Given the description of an element on the screen output the (x, y) to click on. 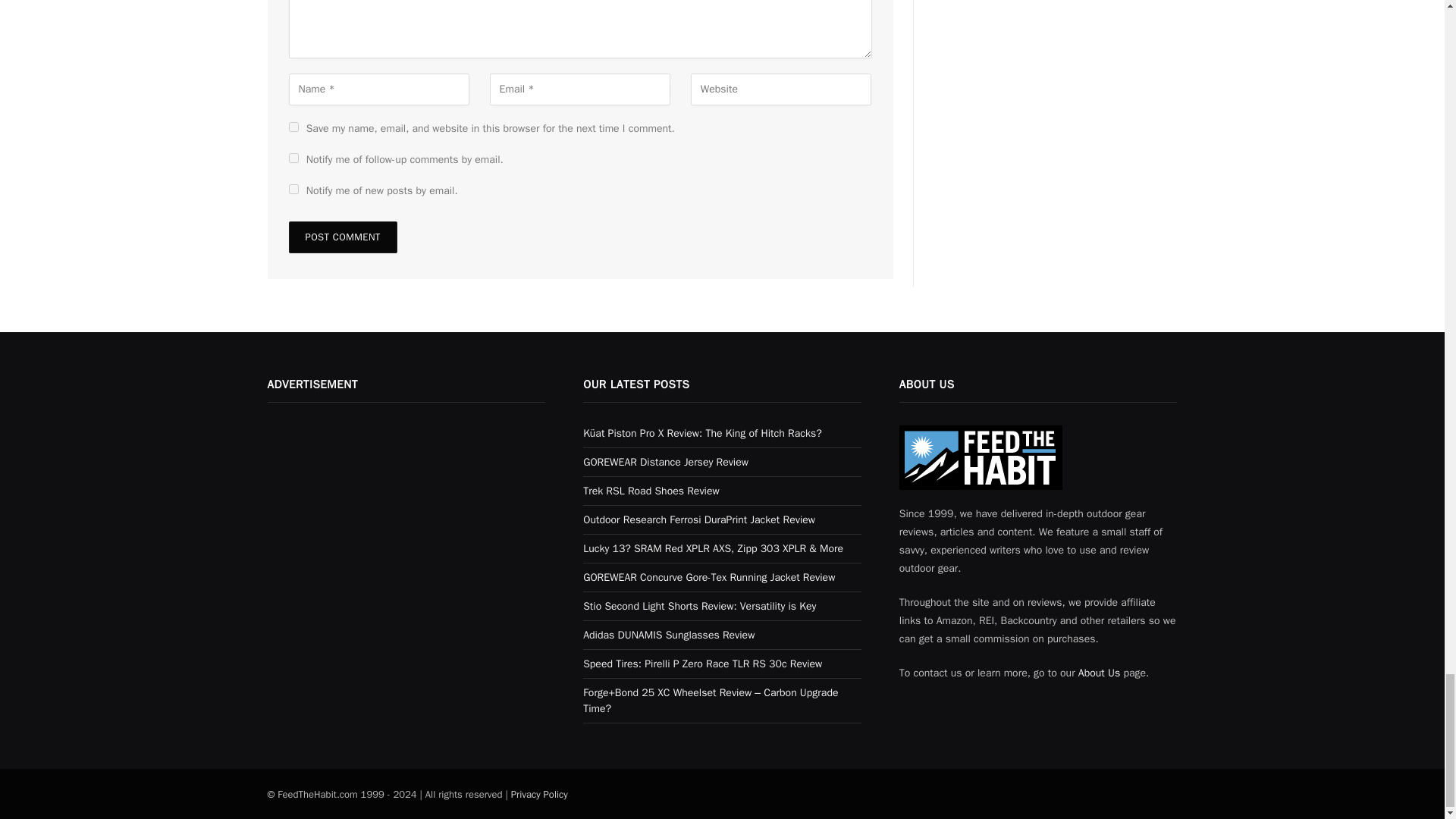
yes (293, 126)
subscribe (293, 189)
Post Comment (342, 237)
subscribe (293, 157)
